Given the description of an element on the screen output the (x, y) to click on. 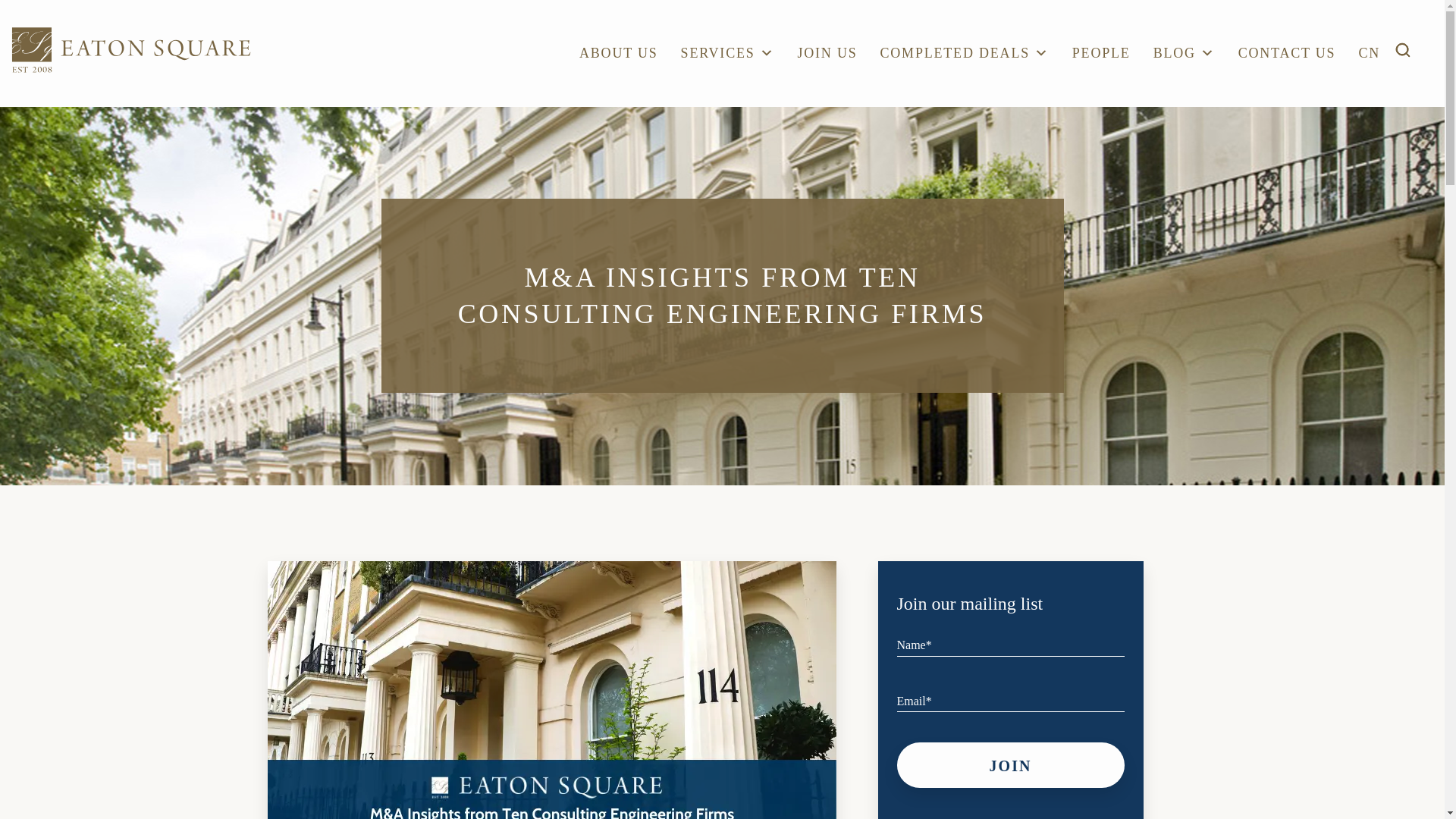
BLOG (1184, 53)
CONTACT US (1287, 53)
PEOPLE (1101, 53)
COMPLETED DEALS (963, 53)
Join (1010, 764)
ABOUT US (618, 53)
JOIN US (826, 53)
SERVICES (727, 53)
